Given the description of an element on the screen output the (x, y) to click on. 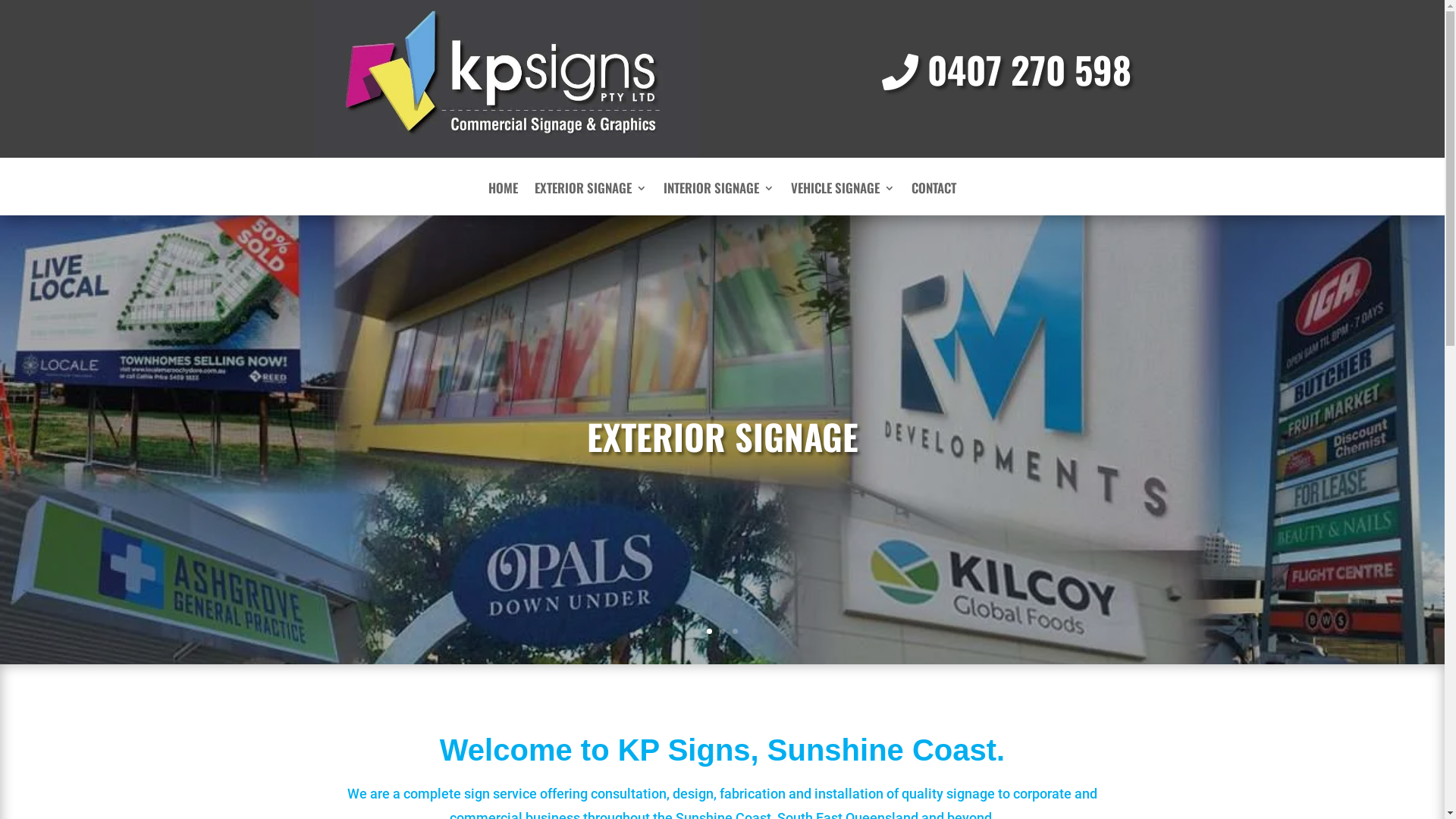
KPS_Logo_2023 Element type: hover (505, 78)
CONTACT Element type: text (933, 198)
2 Element type: text (721, 630)
1 Element type: text (709, 630)
EXTERIOR SIGNAGE Element type: text (590, 198)
0407 270 598 Element type: text (1006, 69)
VEHICLE SIGNAGE Element type: text (842, 198)
INTERIOR SIGNAGE Element type: text (718, 198)
3 Element type: text (734, 630)
HOME Element type: text (502, 198)
